Given the description of an element on the screen output the (x, y) to click on. 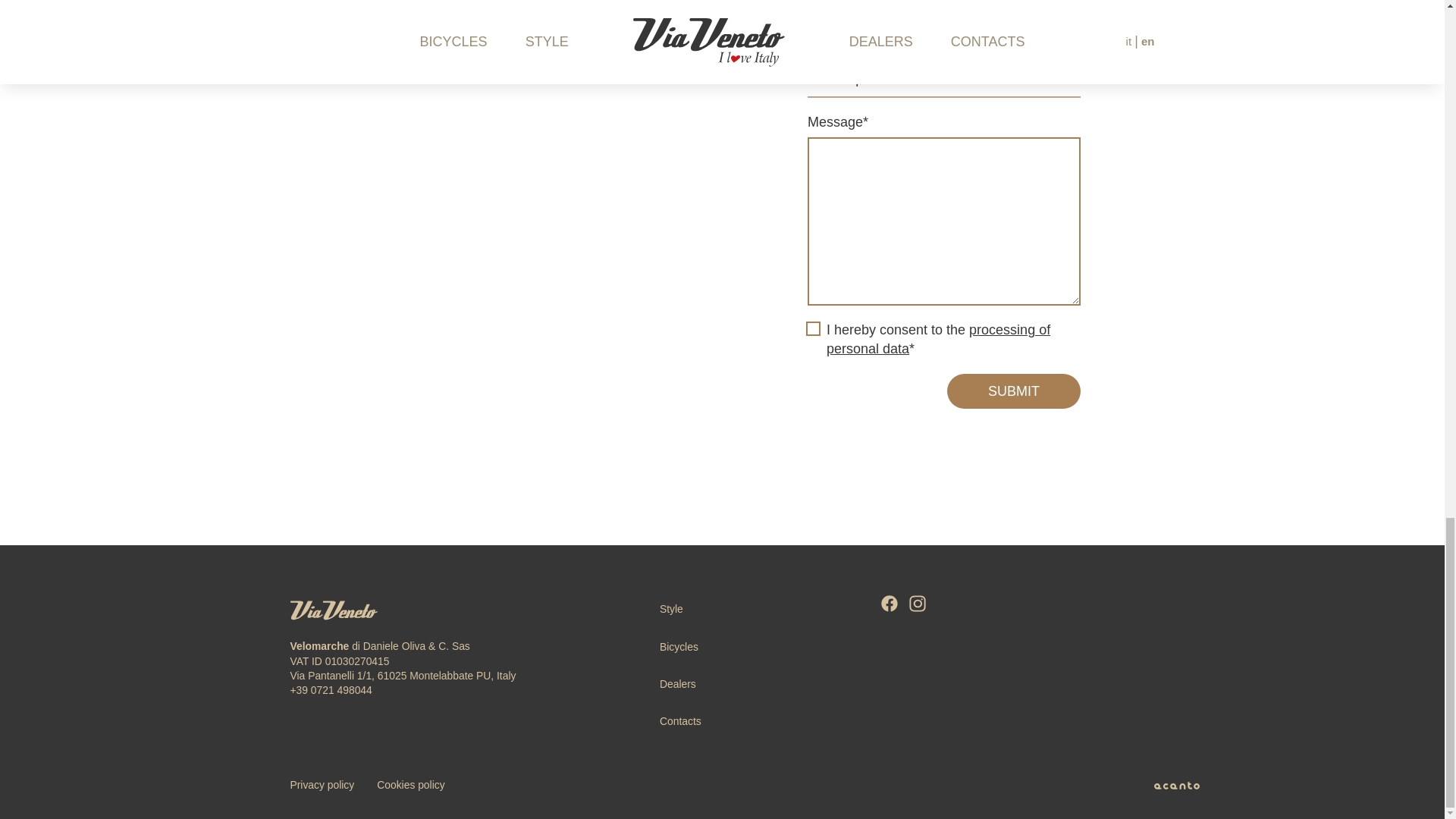
Cookies policy (410, 784)
Privacy policy (321, 784)
processing of personal data (938, 339)
Dealers (677, 684)
Contacts (680, 720)
Style (670, 608)
SUBMIT (1013, 390)
Bicycles (678, 646)
